Given the description of an element on the screen output the (x, y) to click on. 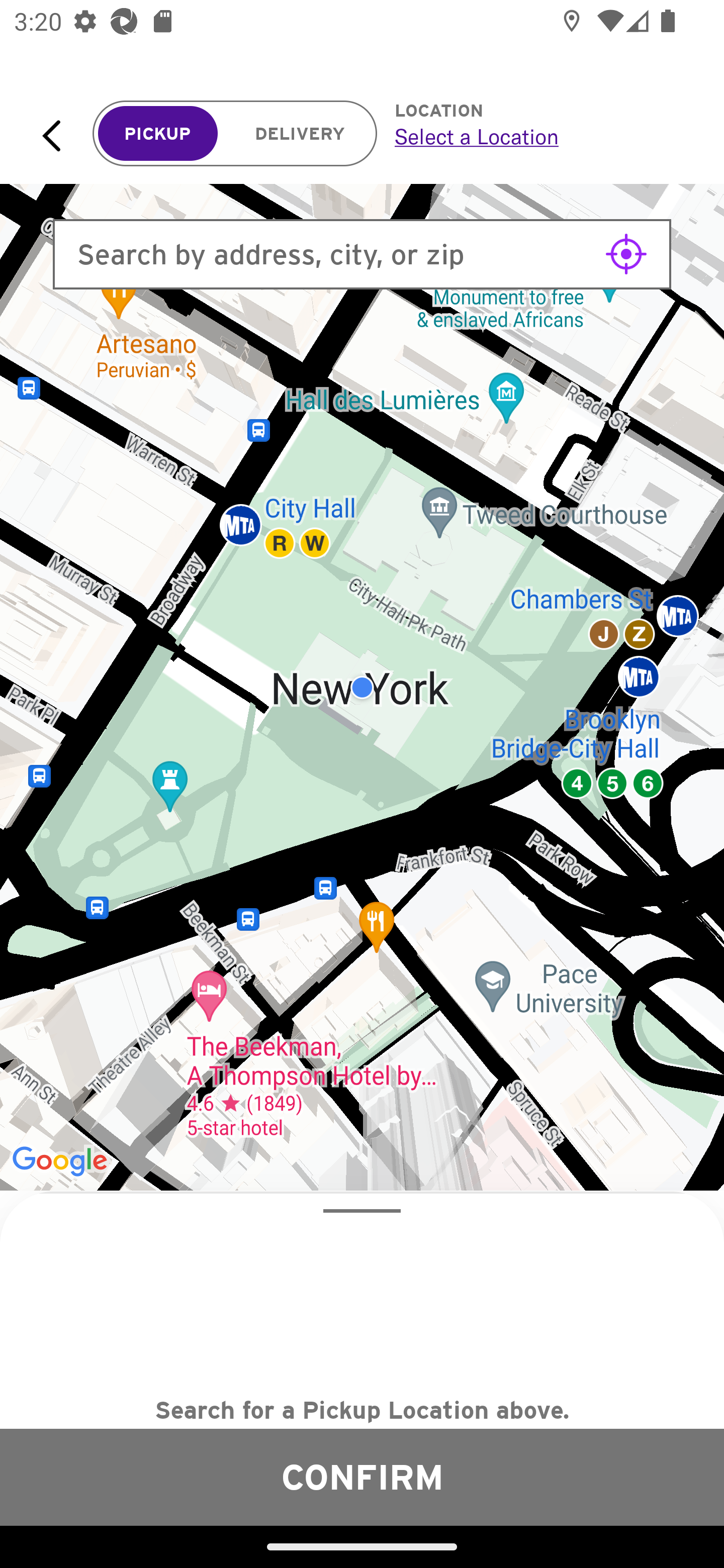
PICKUP (157, 133)
DELIVERY (299, 133)
Select a Location (536, 136)
Search by address, city, or zip (361, 254)
CONFIRM (362, 1476)
